Given the description of an element on the screen output the (x, y) to click on. 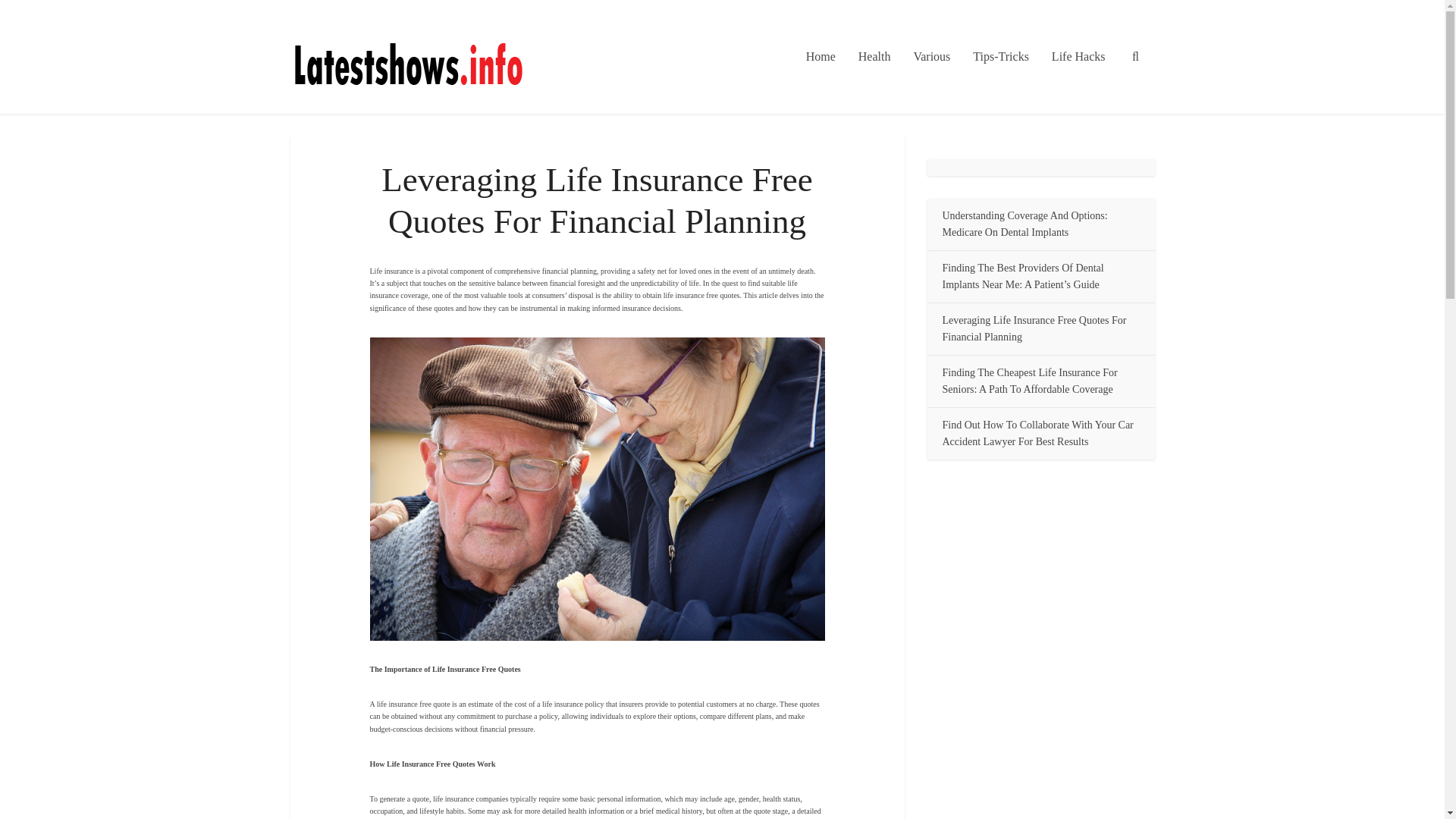
Life Hacks (1078, 56)
Various (930, 56)
Tips-Tricks (1000, 56)
Home (820, 56)
Health (874, 56)
